Given the description of an element on the screen output the (x, y) to click on. 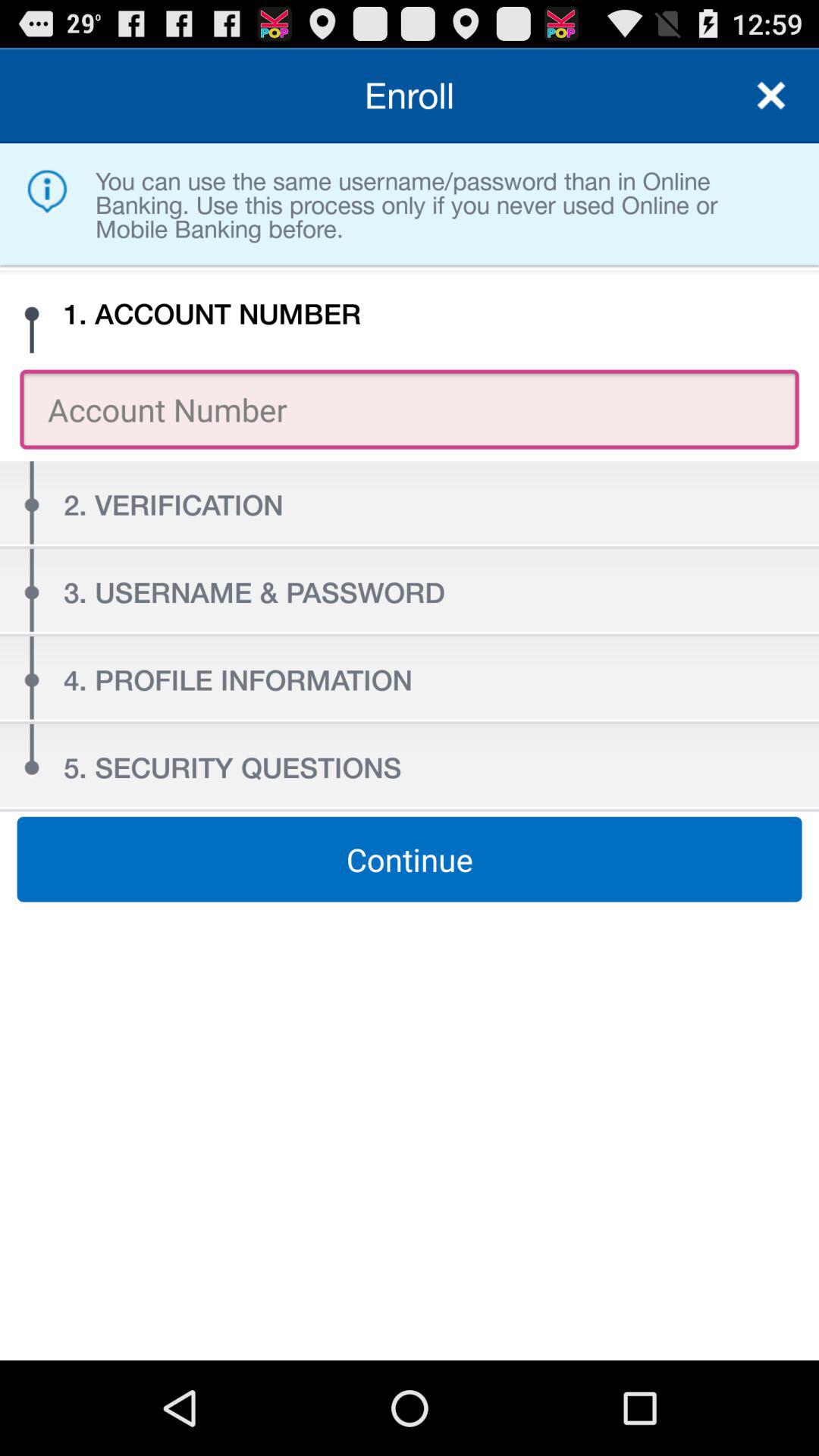
tap icon above 2. verification (409, 409)
